Given the description of an element on the screen output the (x, y) to click on. 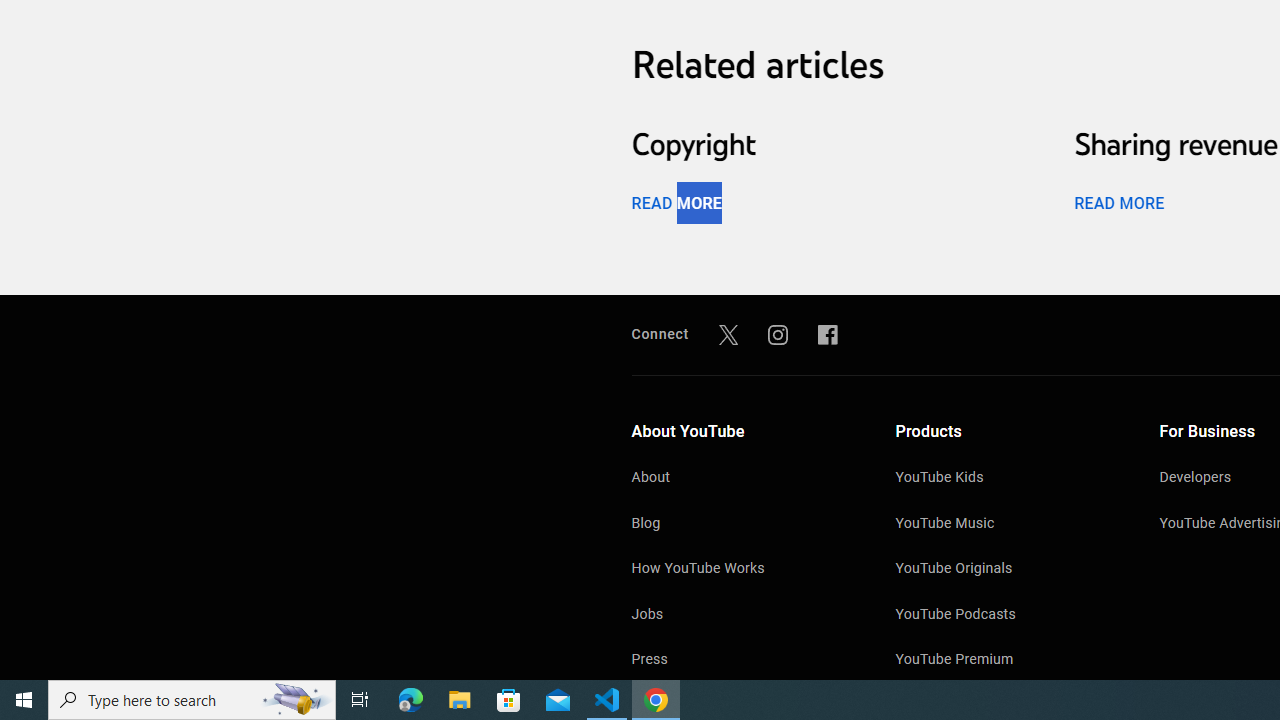
YouTube Premium (1007, 660)
